Given the description of an element on the screen output the (x, y) to click on. 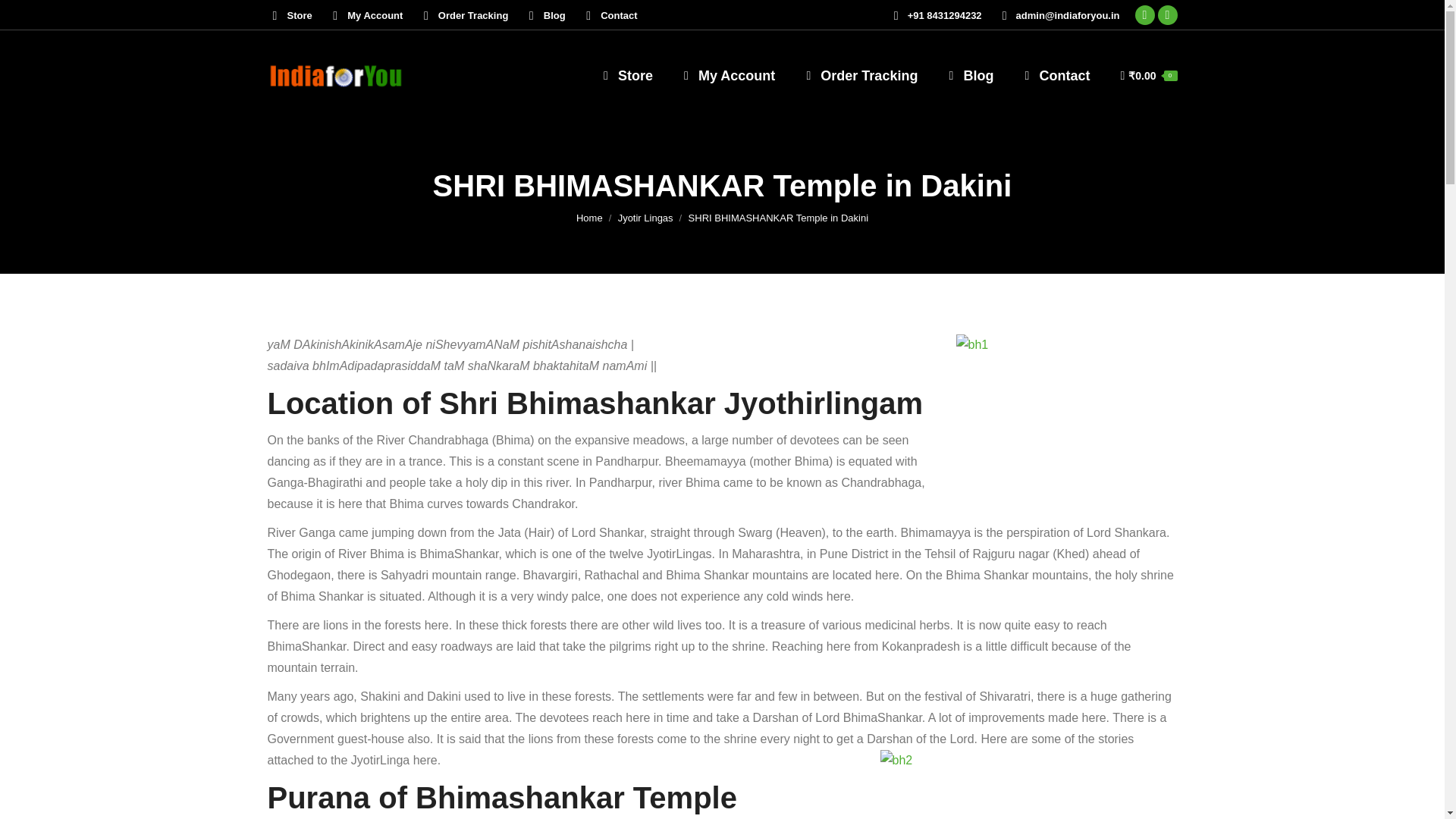
X page opens in new window (1167, 14)
Contact (608, 14)
Blog (545, 14)
My Account (726, 75)
My Account (365, 14)
Jyotir Lingas (644, 217)
Store (288, 14)
Home (589, 217)
Store (625, 75)
Facebook page opens in new window (1144, 14)
Blog (967, 75)
Contact (1054, 75)
Facebook page opens in new window (1144, 14)
Order Tracking (858, 75)
X page opens in new window (1167, 14)
